Given the description of an element on the screen output the (x, y) to click on. 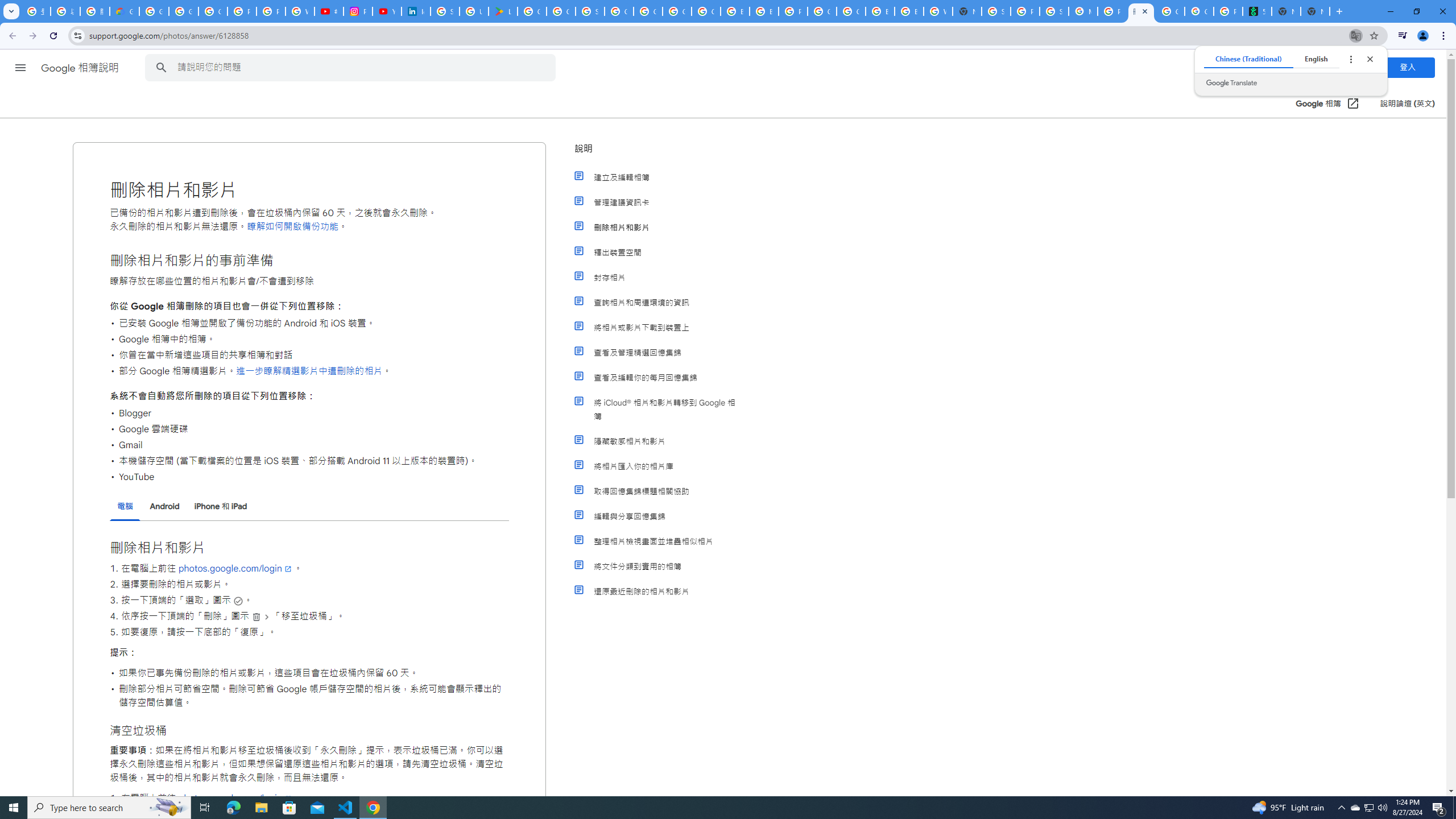
New Tab (1315, 11)
Chinese (Traditional) (1248, 58)
Sign in - Google Accounts (996, 11)
